Given the description of an element on the screen output the (x, y) to click on. 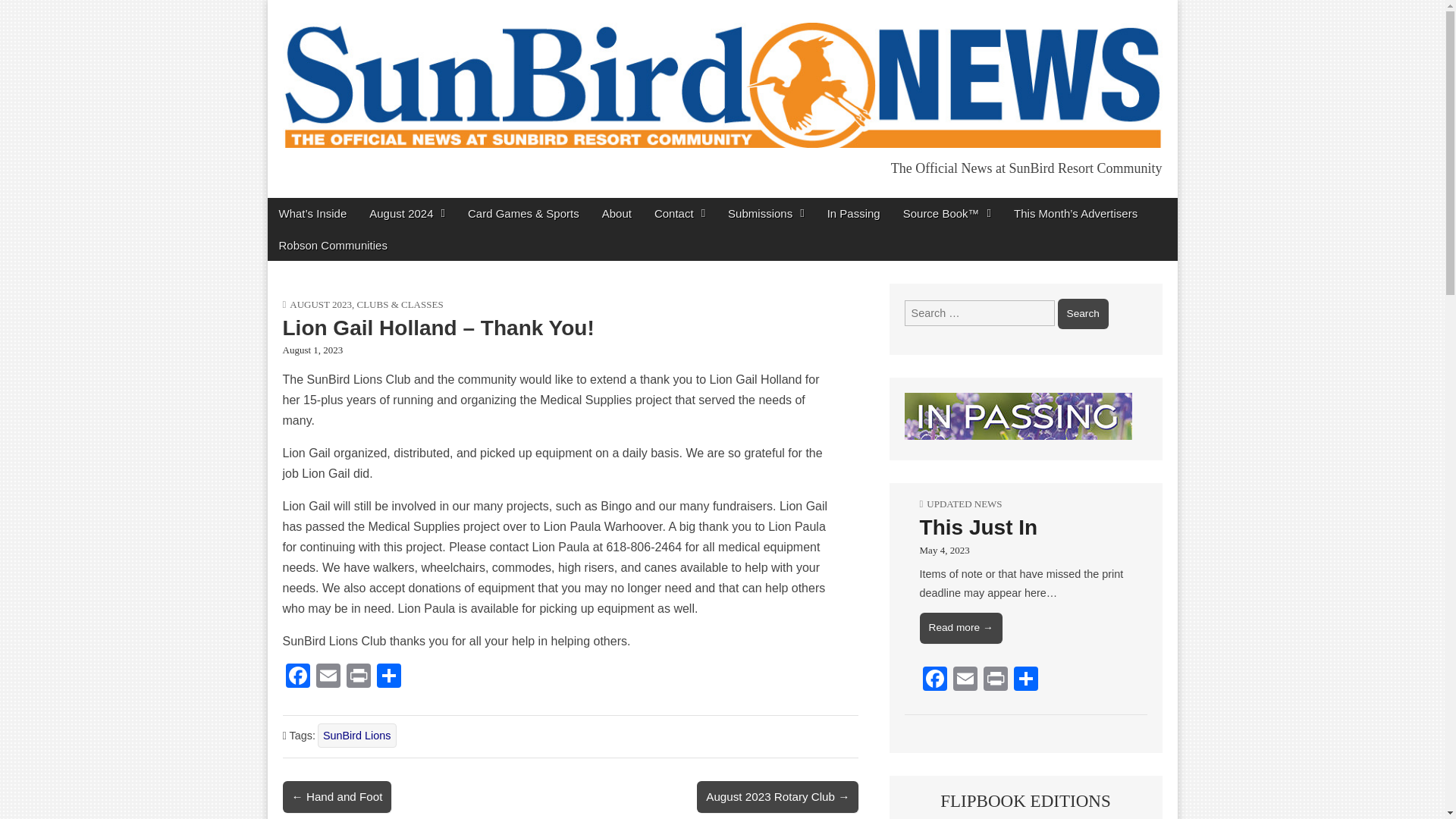
SunBird Lions (356, 735)
Facebook (297, 677)
In Passing (853, 213)
Facebook (297, 677)
Email (327, 677)
Print (357, 677)
UPDATED NEWS (963, 503)
SunBird News (388, 201)
Search (1083, 313)
About (617, 213)
